Given the description of an element on the screen output the (x, y) to click on. 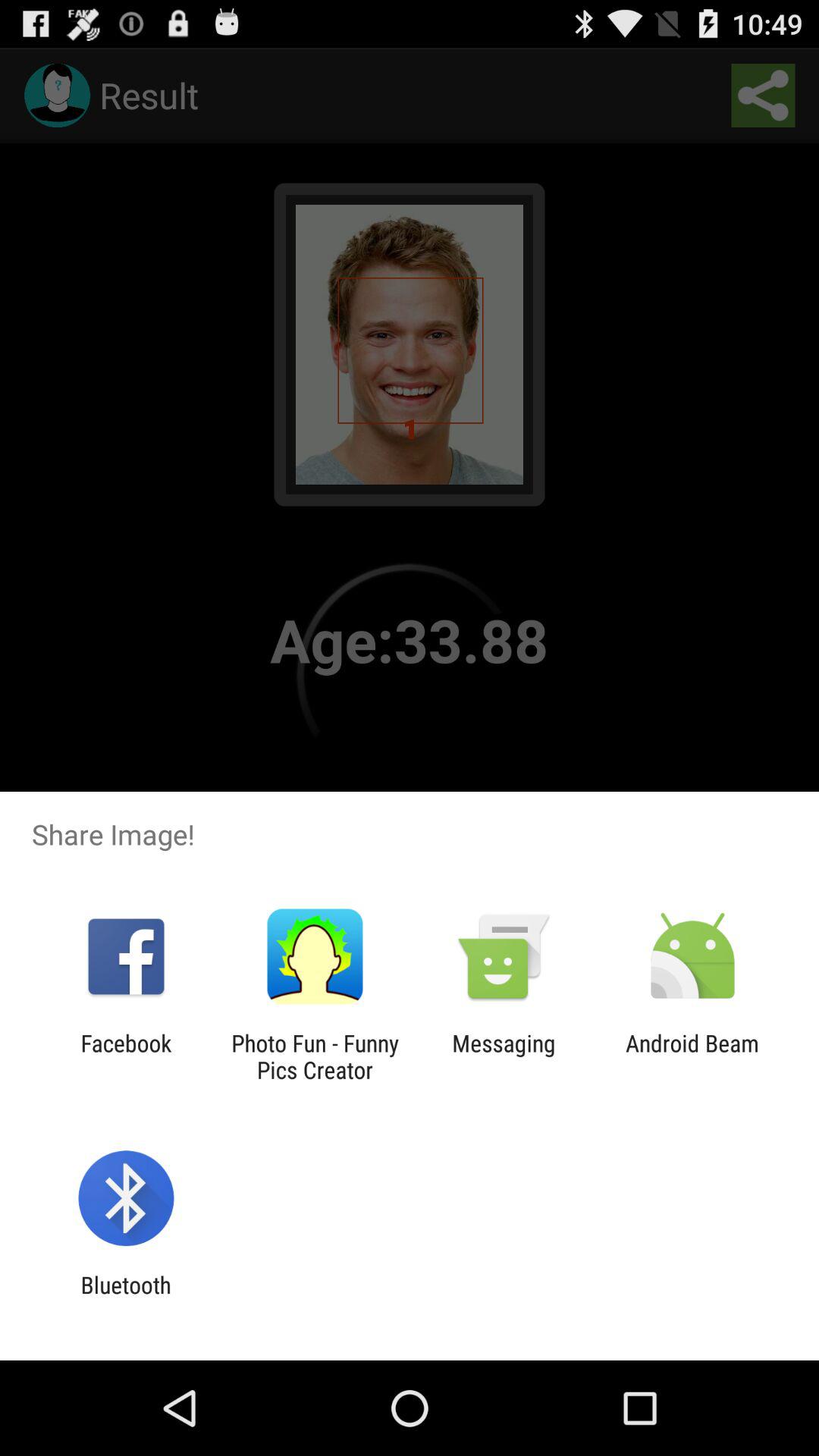
click app to the right of messaging app (692, 1056)
